Given the description of an element on the screen output the (x, y) to click on. 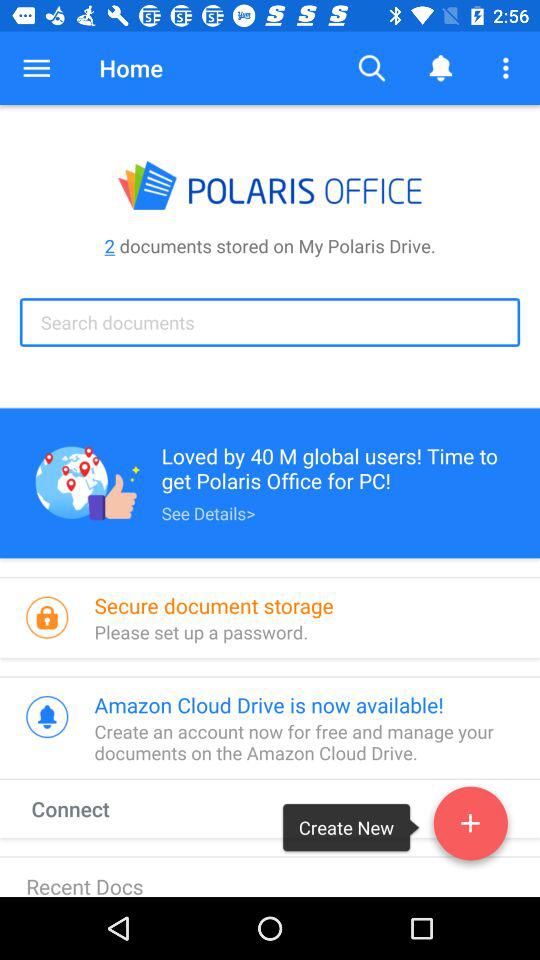
click to add the icon to create new details (470, 827)
